Given the description of an element on the screen output the (x, y) to click on. 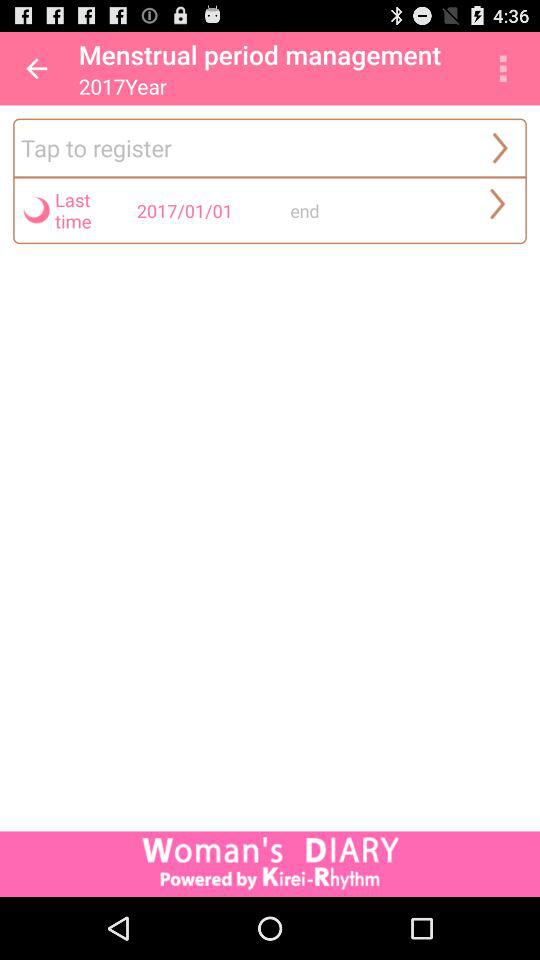
select app next to the menstrual period management app (36, 68)
